Given the description of an element on the screen output the (x, y) to click on. 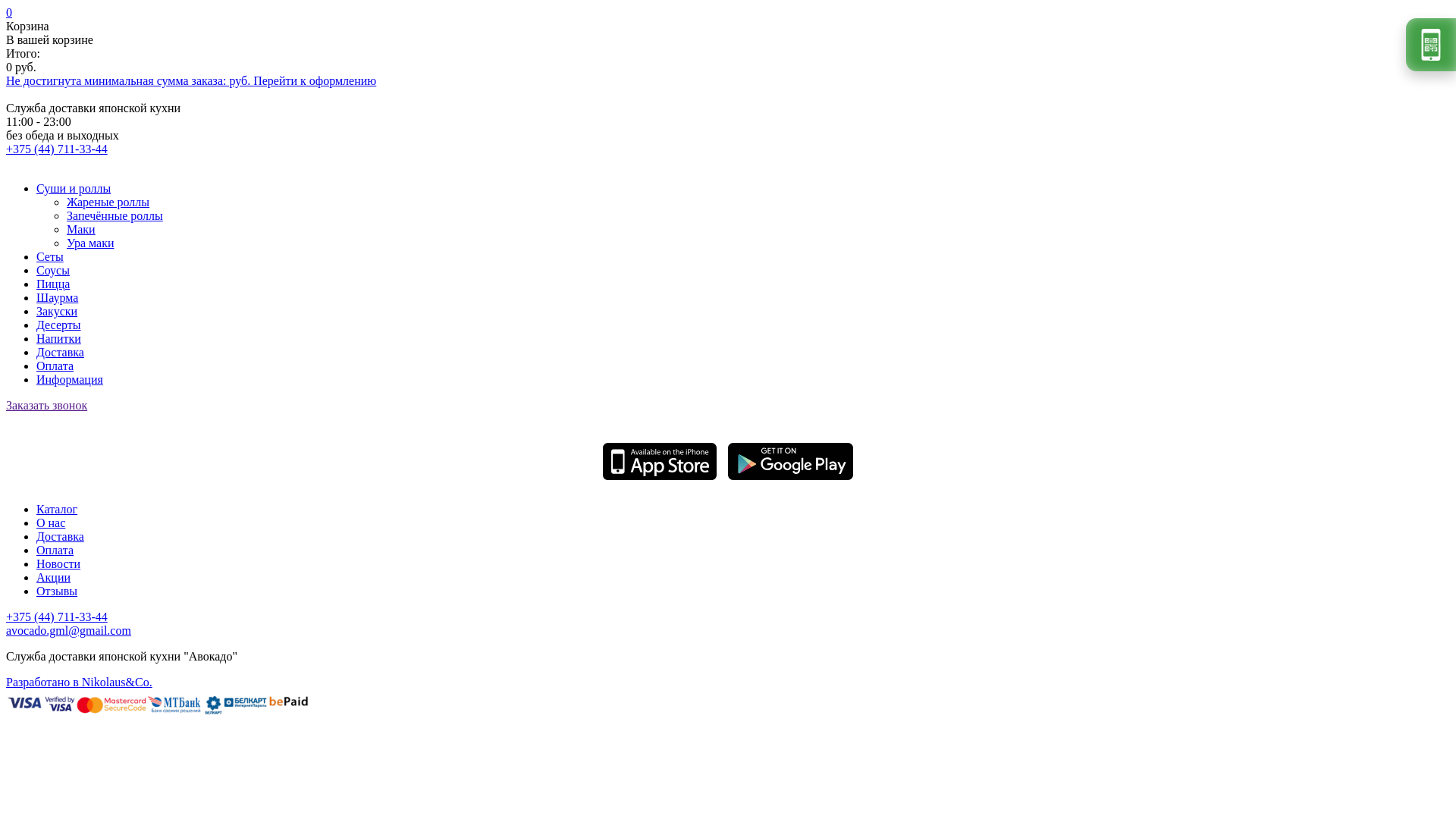
0 Element type: text (9, 12)
+375 (44) 711-33-44 Element type: text (56, 148)
+375 (44) 711-33-44 Element type: text (56, 616)
avocado.gml@gmail.com Element type: text (68, 630)
